Given the description of an element on the screen output the (x, y) to click on. 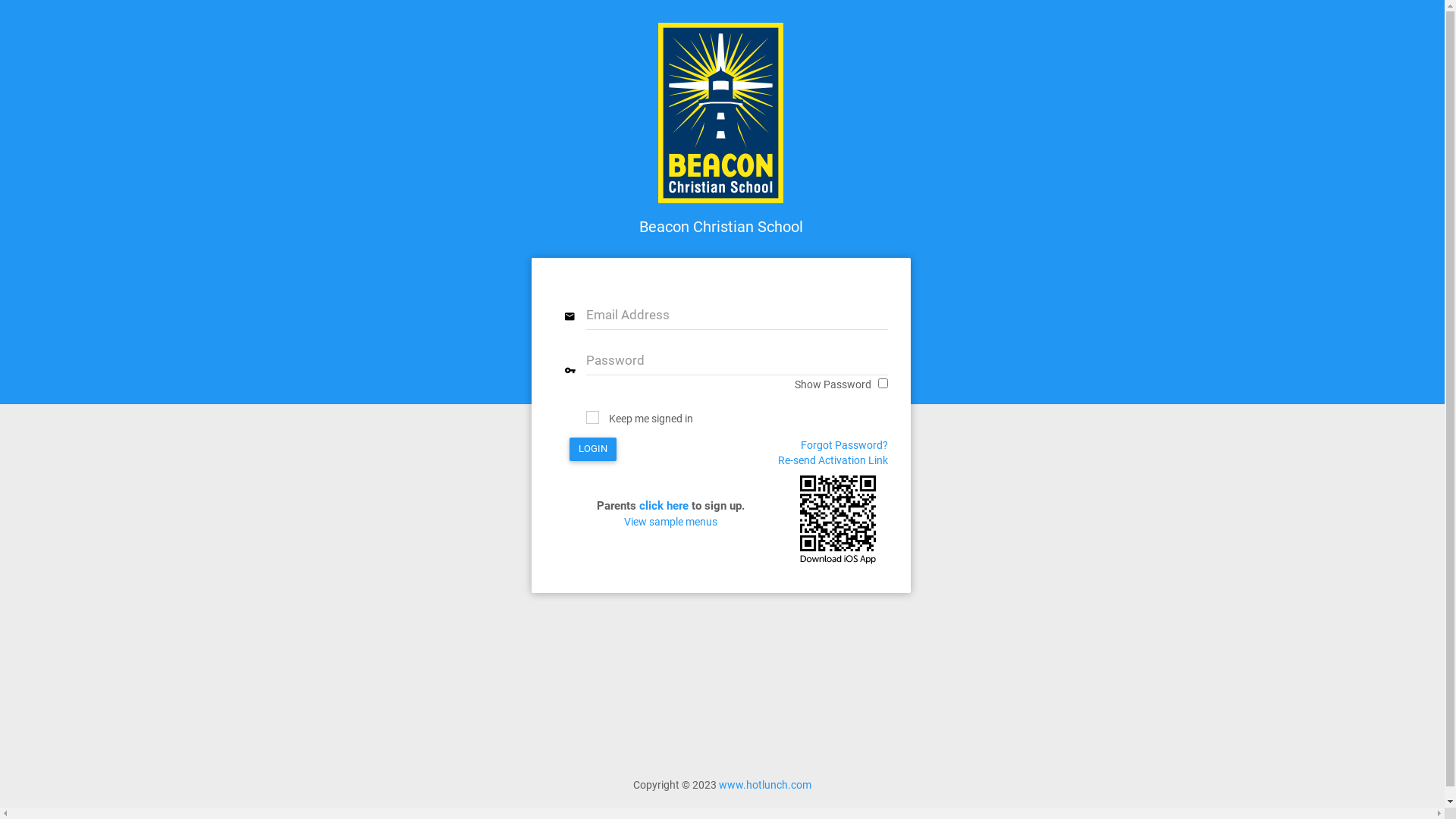
LOGIN Element type: text (591, 449)
Forgot Password? Element type: text (844, 444)
on Element type: text (883, 383)
click here Element type: text (663, 505)
Re-send Activation Link Element type: text (833, 463)
View sample menus Element type: text (670, 521)
www.hotlunch.com Element type: text (764, 784)
